Given the description of an element on the screen output the (x, y) to click on. 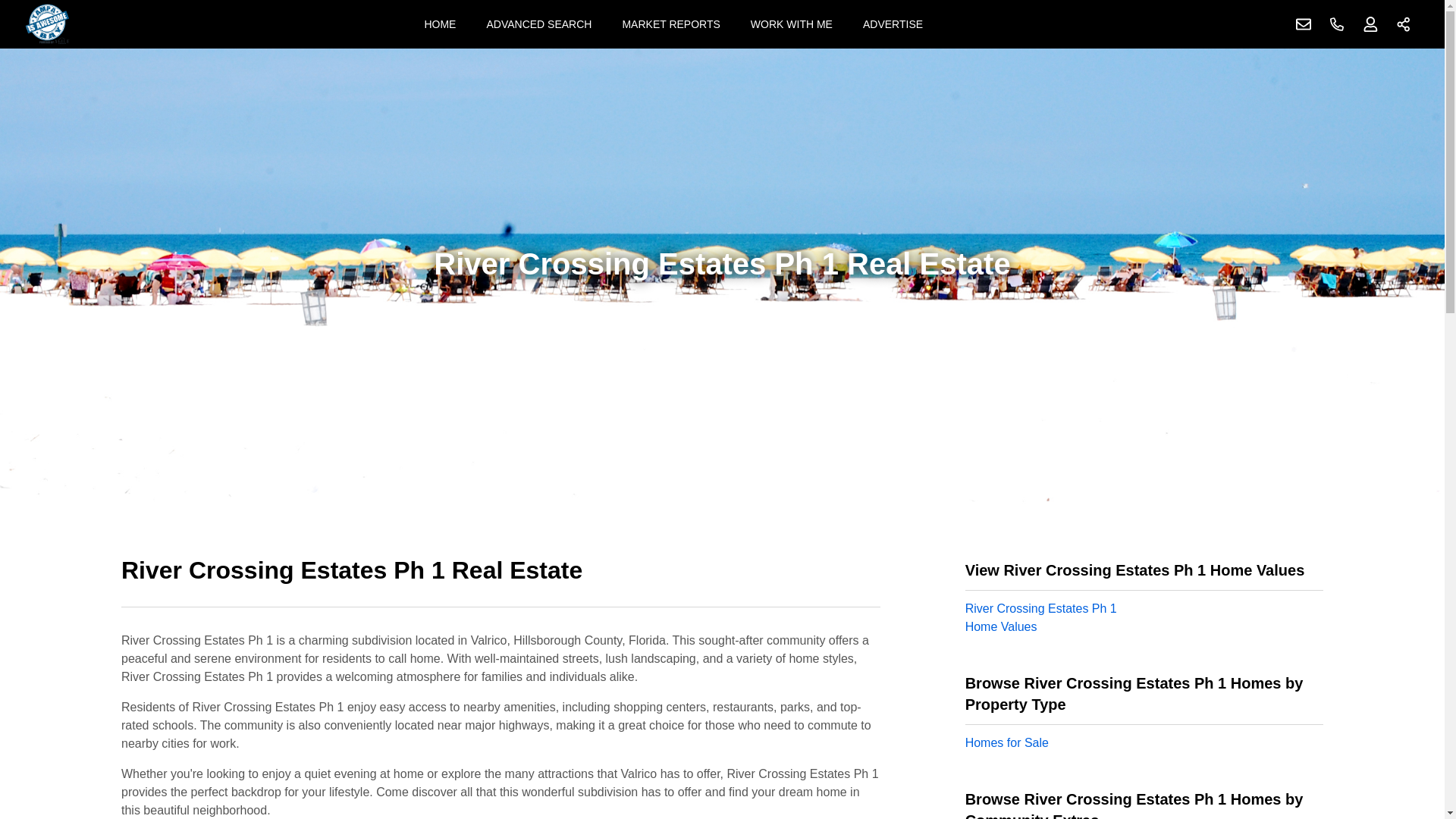
Tampabayisawesome.com (46, 24)
ADVERTISE (892, 24)
Sign up or Sign in (1370, 23)
HOME (439, 24)
Contact us (1303, 23)
Share (1404, 23)
Phone number (1337, 23)
MARKET REPORTS (670, 24)
ADVANCED SEARCH (538, 24)
River Crossing Estates Ph 1 Real Estate (500, 579)
WORK WITH ME (791, 24)
